Given the description of an element on the screen output the (x, y) to click on. 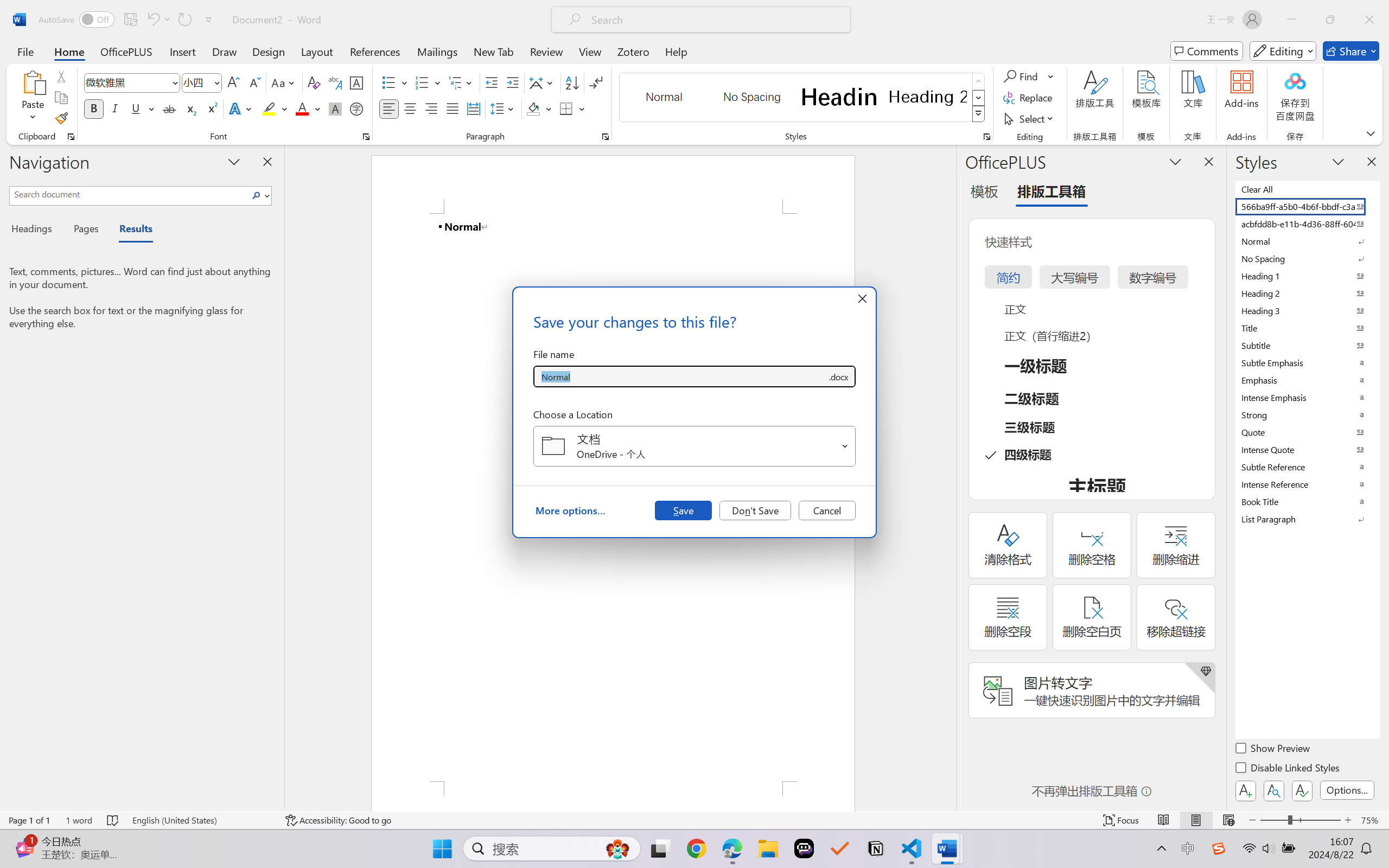
Web Layout (1228, 819)
Mode (1283, 50)
Font (126, 82)
Class: NetUIButton (1301, 790)
Emphasis (1306, 379)
Open (844, 446)
Class: Image (1218, 847)
Spelling and Grammar Check No Errors (113, 819)
Intense Quote (1306, 449)
